Given the description of an element on the screen output the (x, y) to click on. 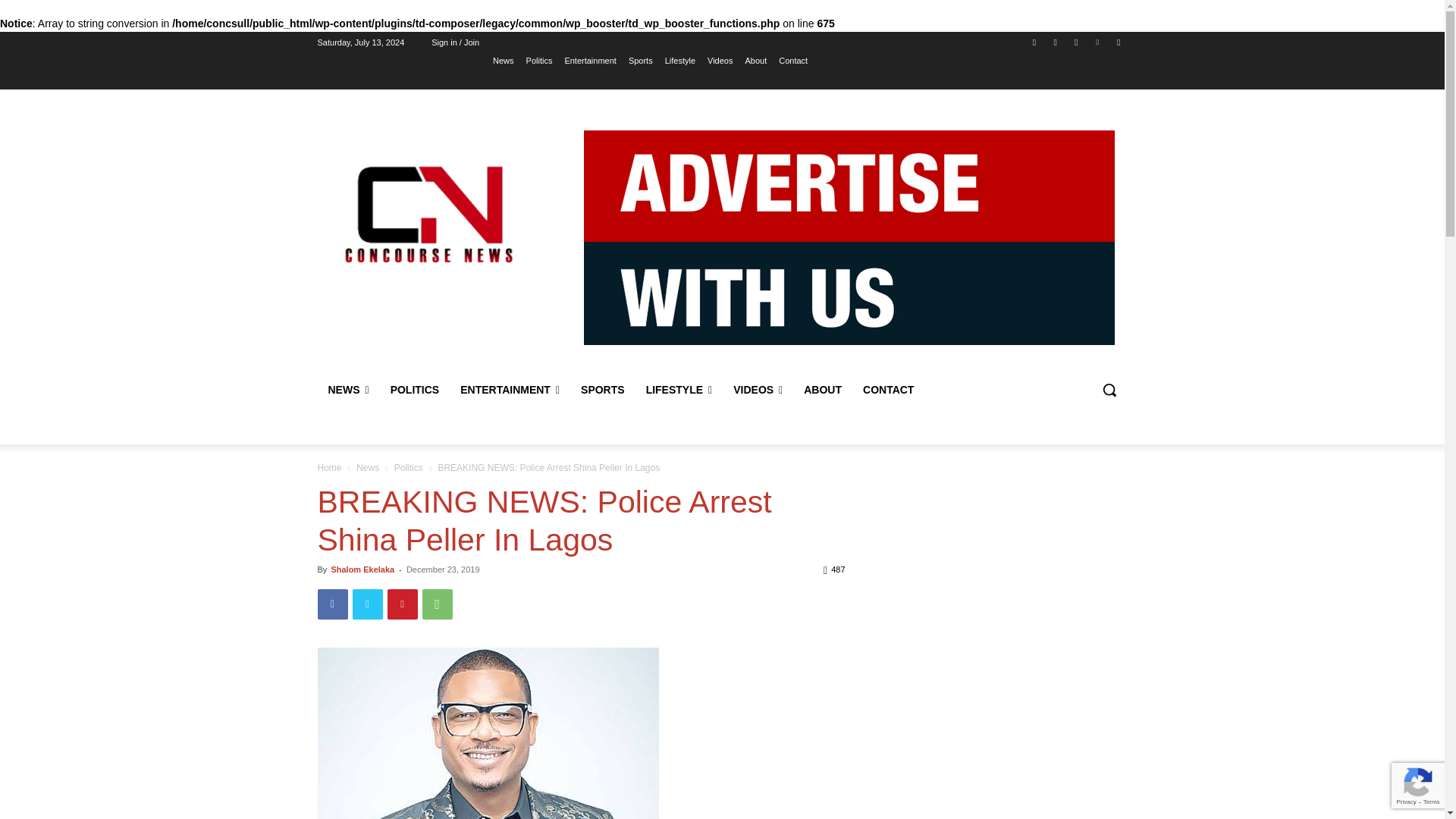
Twitter (1075, 41)
Youtube (1117, 41)
News (503, 60)
Facebook (1034, 41)
Instagram (1055, 41)
Vimeo (1097, 41)
